Given the description of an element on the screen output the (x, y) to click on. 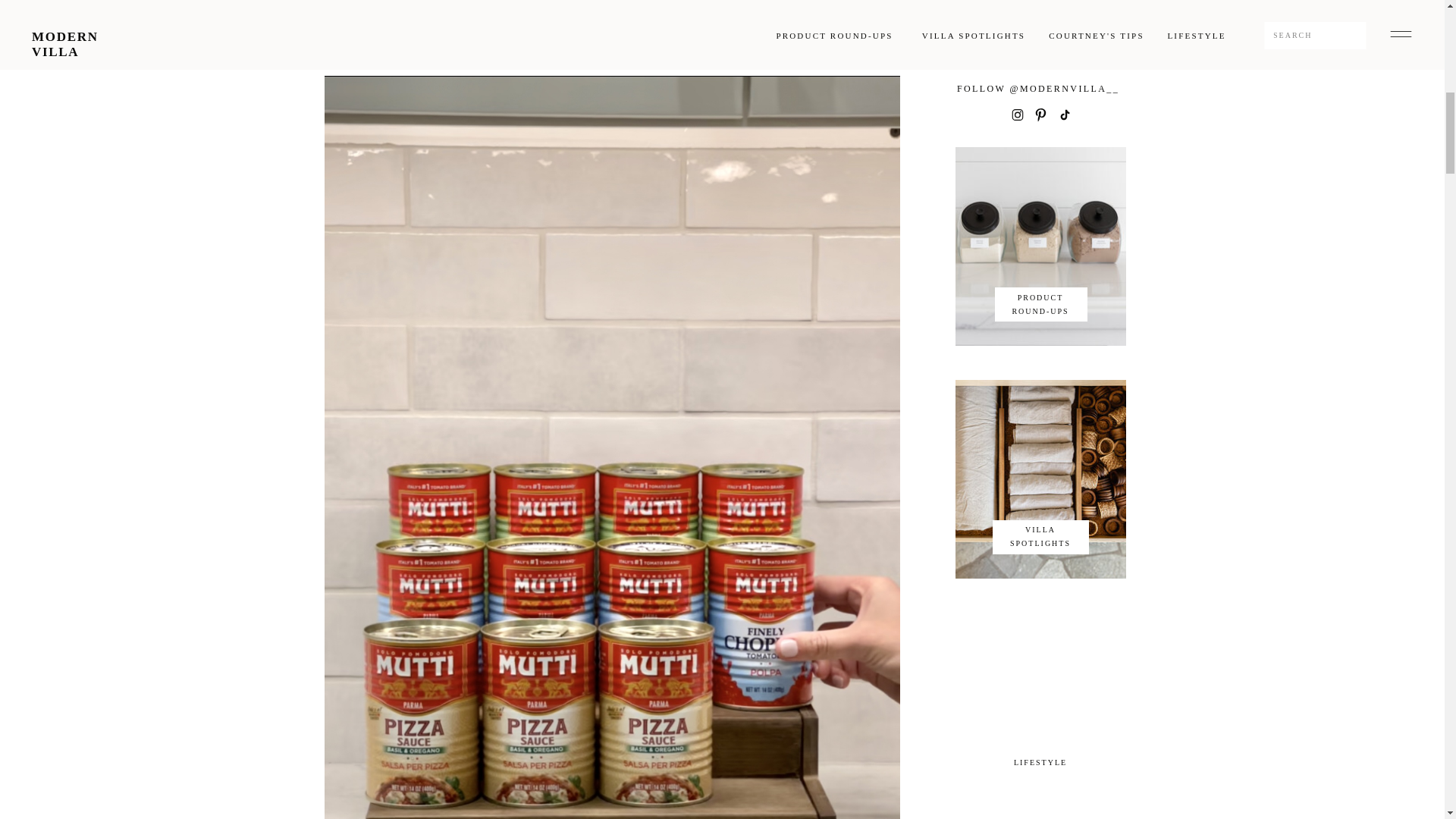
LIFESTYLE (1039, 763)
